Given the description of an element on the screen output the (x, y) to click on. 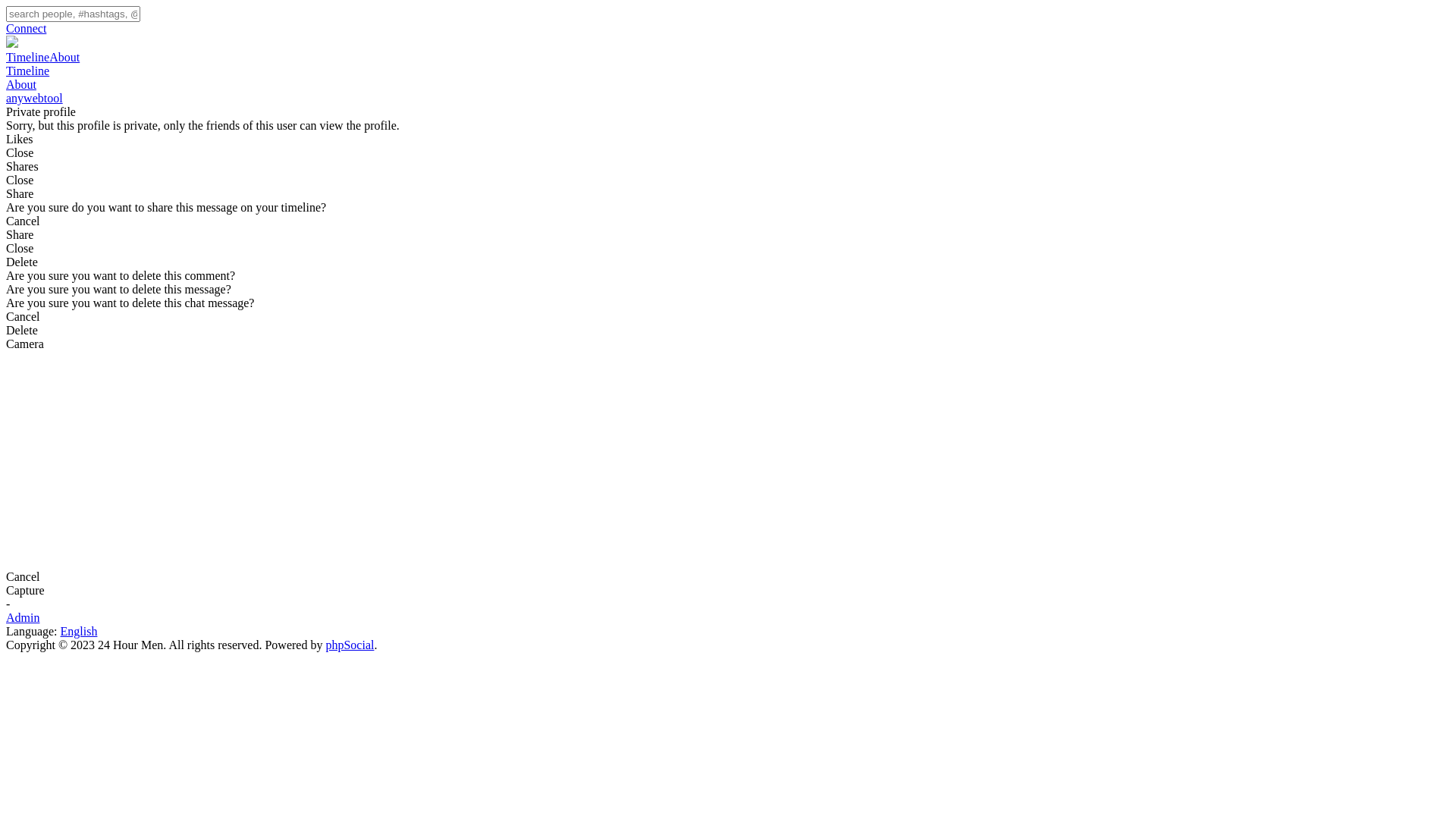
phpSocial Element type: text (349, 644)
About Element type: text (727, 84)
English Element type: text (78, 630)
Close Element type: text (19, 152)
anywebtool Element type: text (34, 97)
Cancel Element type: text (22, 316)
Timeline Element type: text (727, 71)
Connect Element type: text (727, 28)
Delete Element type: text (21, 329)
Admin Element type: text (22, 617)
Cancel Element type: text (22, 220)
Share Element type: text (19, 234)
Cancel Element type: text (22, 576)
About Element type: text (64, 56)
Capture Element type: text (25, 589)
Close Element type: text (19, 247)
Timeline Element type: text (27, 56)
Close Element type: text (19, 179)
